Given the description of an element on the screen output the (x, y) to click on. 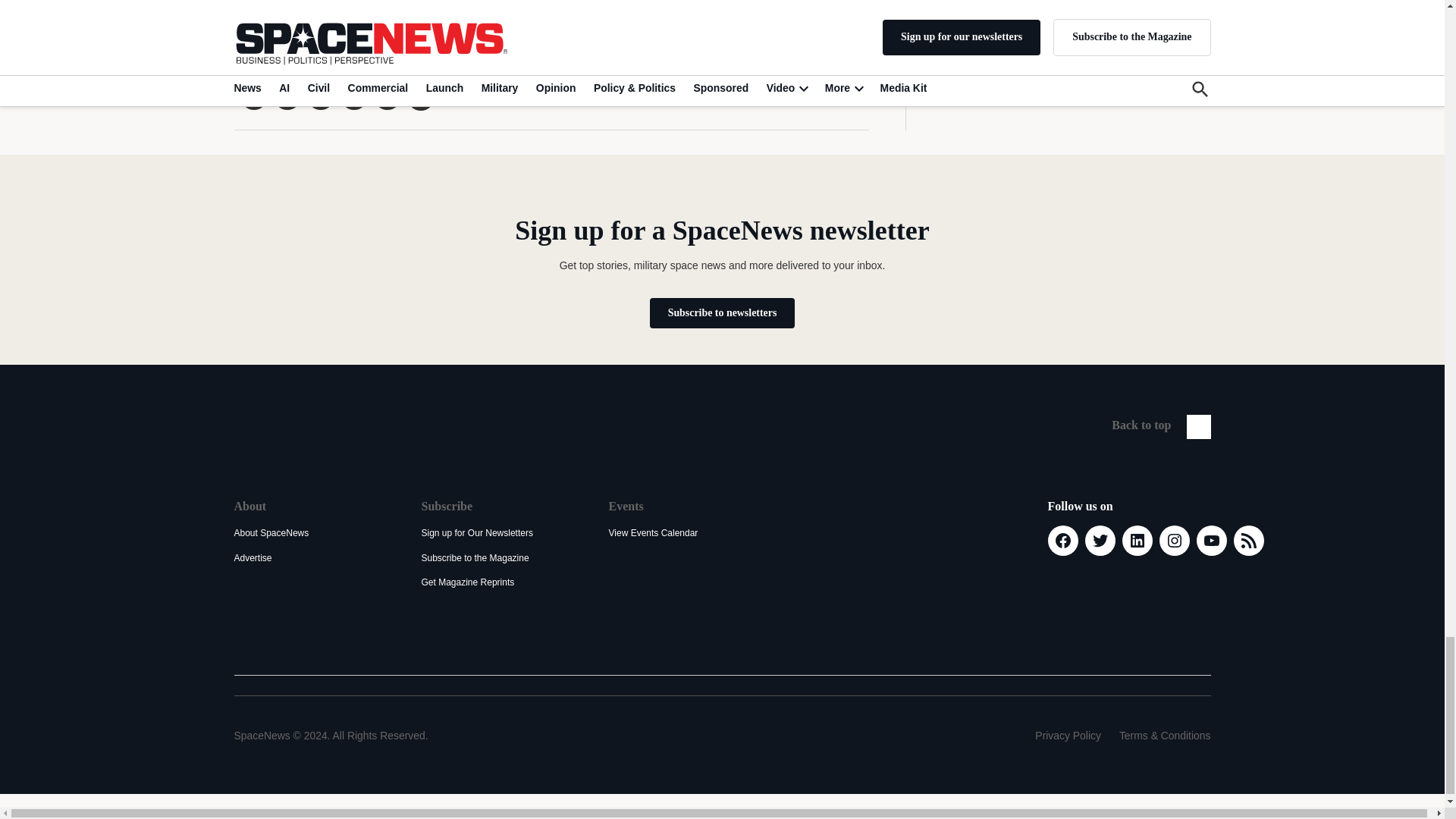
Click to share on Clipboard (419, 96)
Click to share on LinkedIn (319, 95)
Click to share on Reddit (352, 95)
Click to share on Facebook (286, 95)
Click to share on X (253, 95)
Click to email a link to a friend (386, 95)
